Given the description of an element on the screen output the (x, y) to click on. 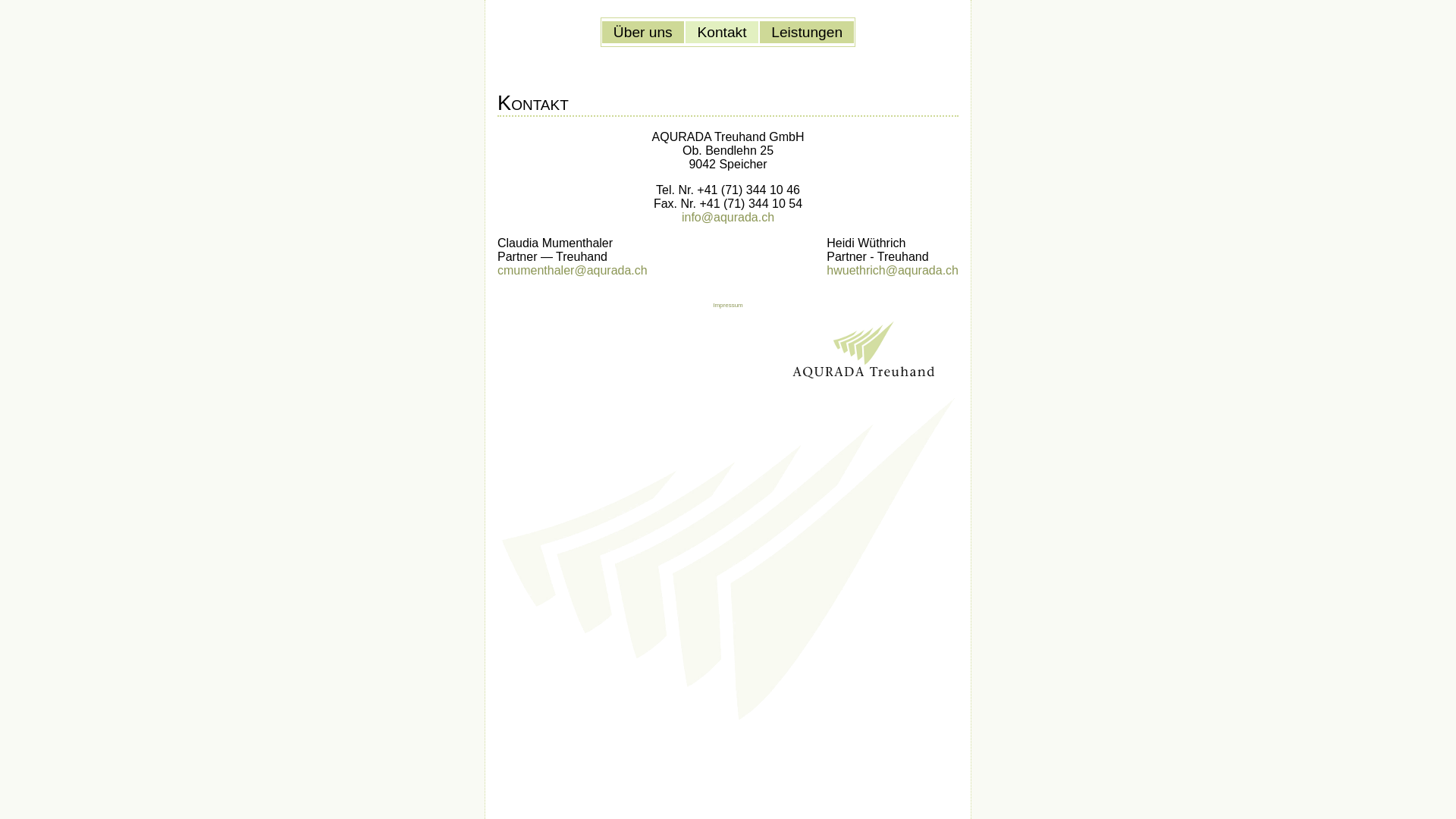
hwuethrich@aqurada.ch Element type: text (892, 269)
info@aqurada.ch Element type: text (727, 216)
Leistungen Element type: text (806, 32)
cmumenthaler@aqurada.ch Element type: text (572, 269)
Impressum Element type: text (727, 304)
